Given the description of an element on the screen output the (x, y) to click on. 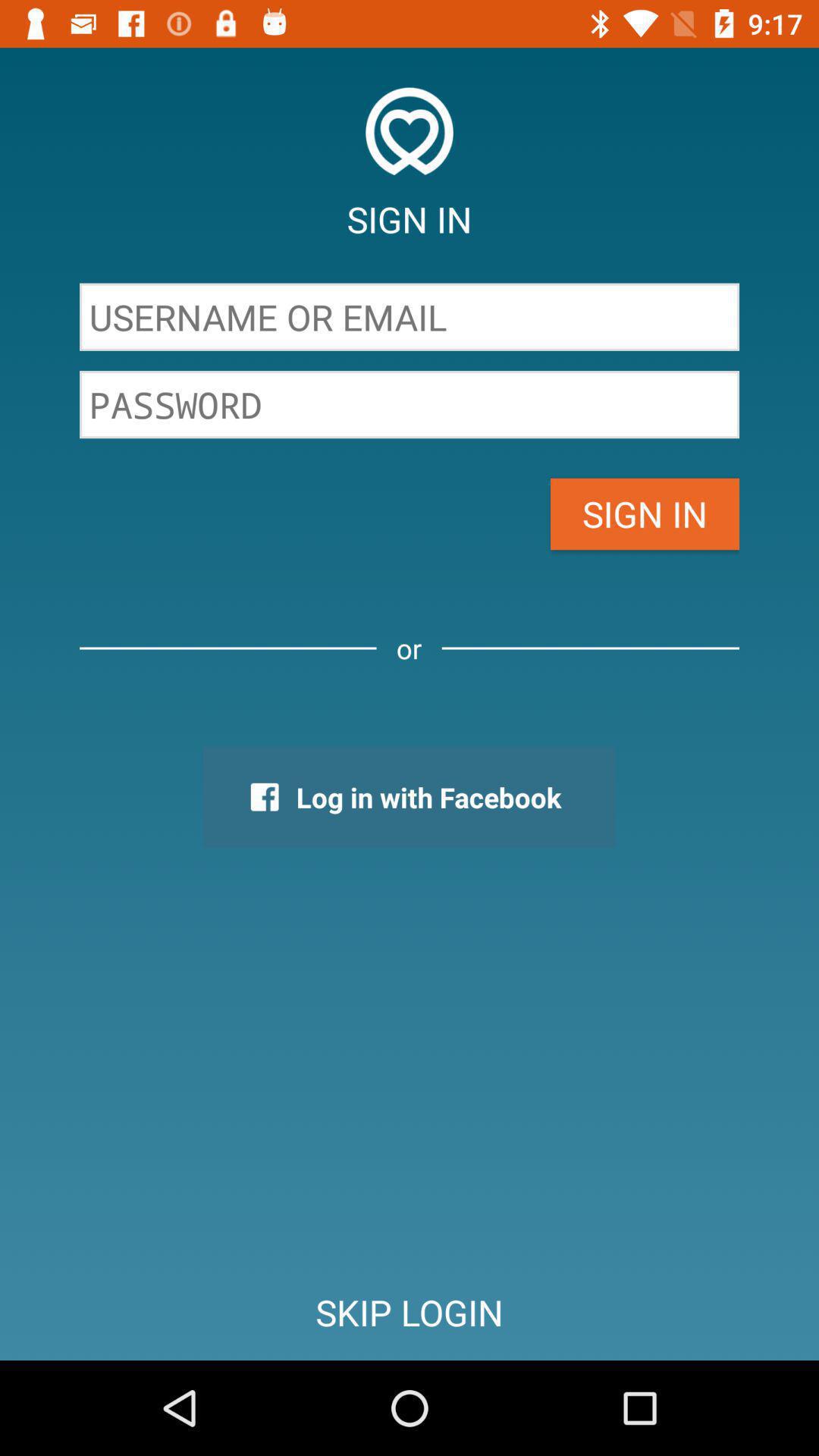
open the item below or item (409, 797)
